Given the description of an element on the screen output the (x, y) to click on. 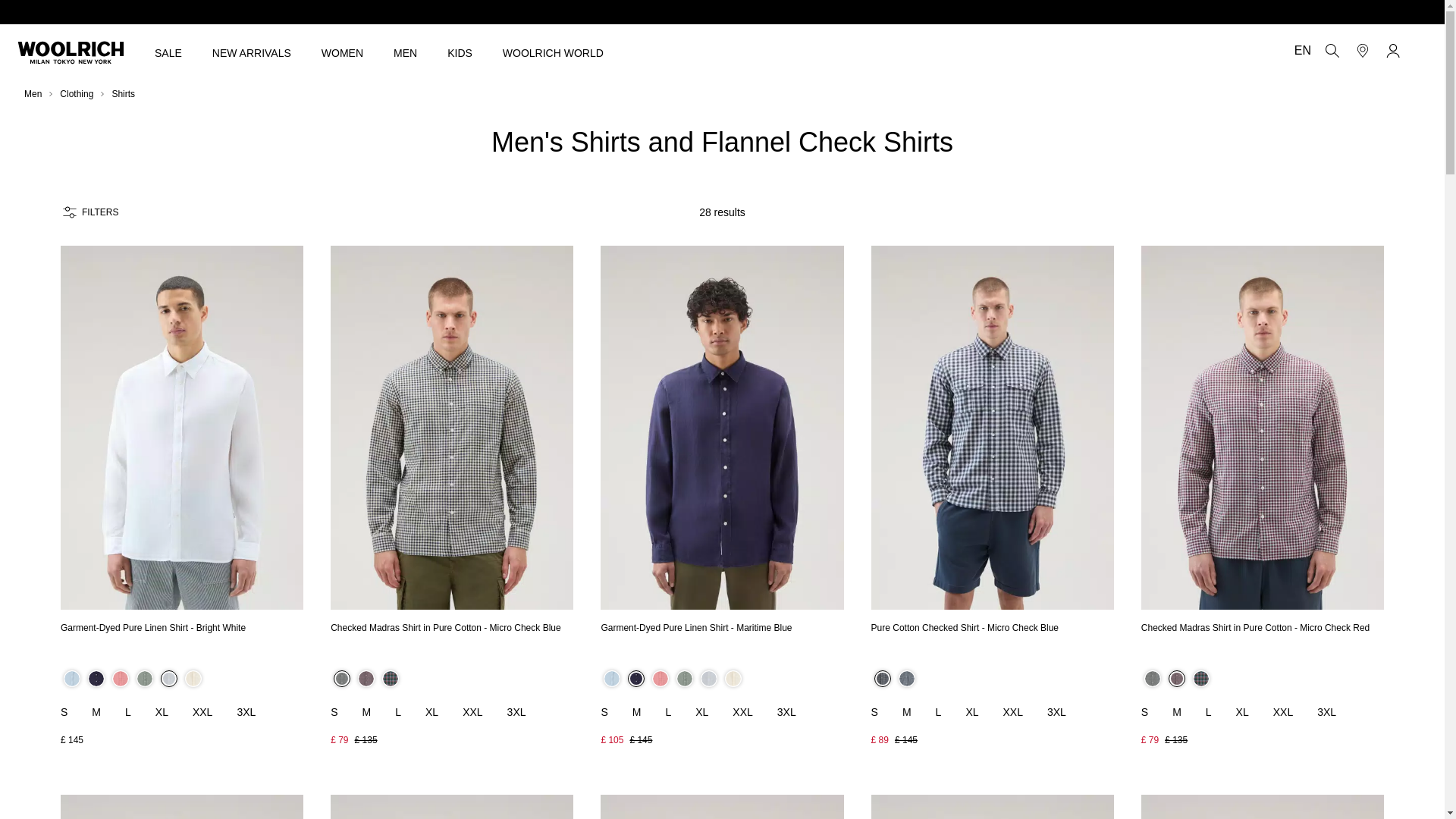
breadcrumbs Clothing (76, 93)
NEW ARRIVALS (251, 52)
Micro Check Blue (341, 678)
Coral Sand (120, 678)
breadcrumbs Men (33, 93)
Maritime Blue (95, 678)
Maritime Blue (636, 678)
Pale Indigo (612, 678)
Pale Indigo (72, 678)
Clothing (76, 93)
